Given the description of an element on the screen output the (x, y) to click on. 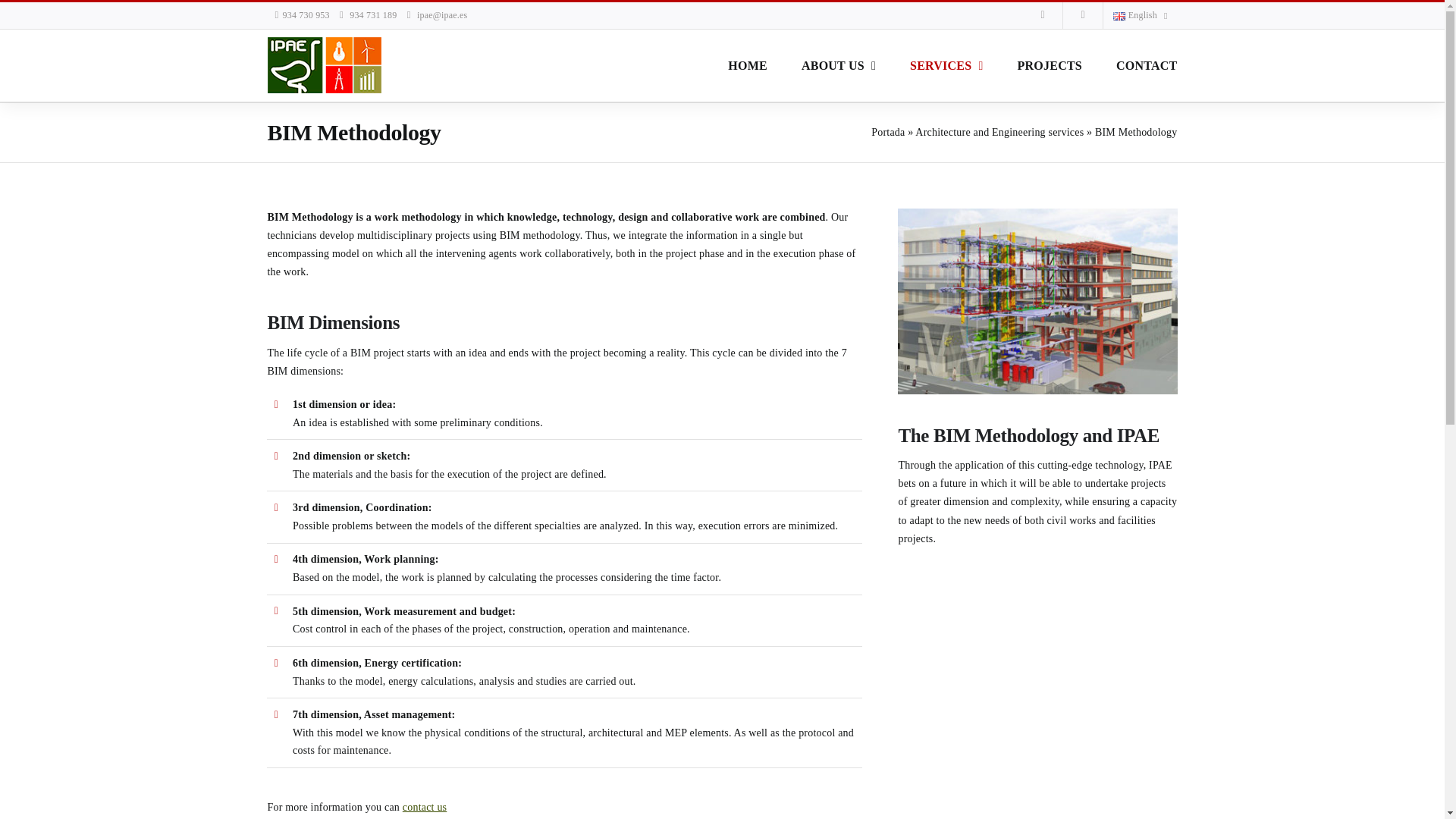
934 731 189 (372, 14)
SERVICES (946, 65)
English (1139, 15)
ABOUT US (839, 65)
934 730 953 (305, 14)
PROJECTS (1048, 65)
